Given the description of an element on the screen output the (x, y) to click on. 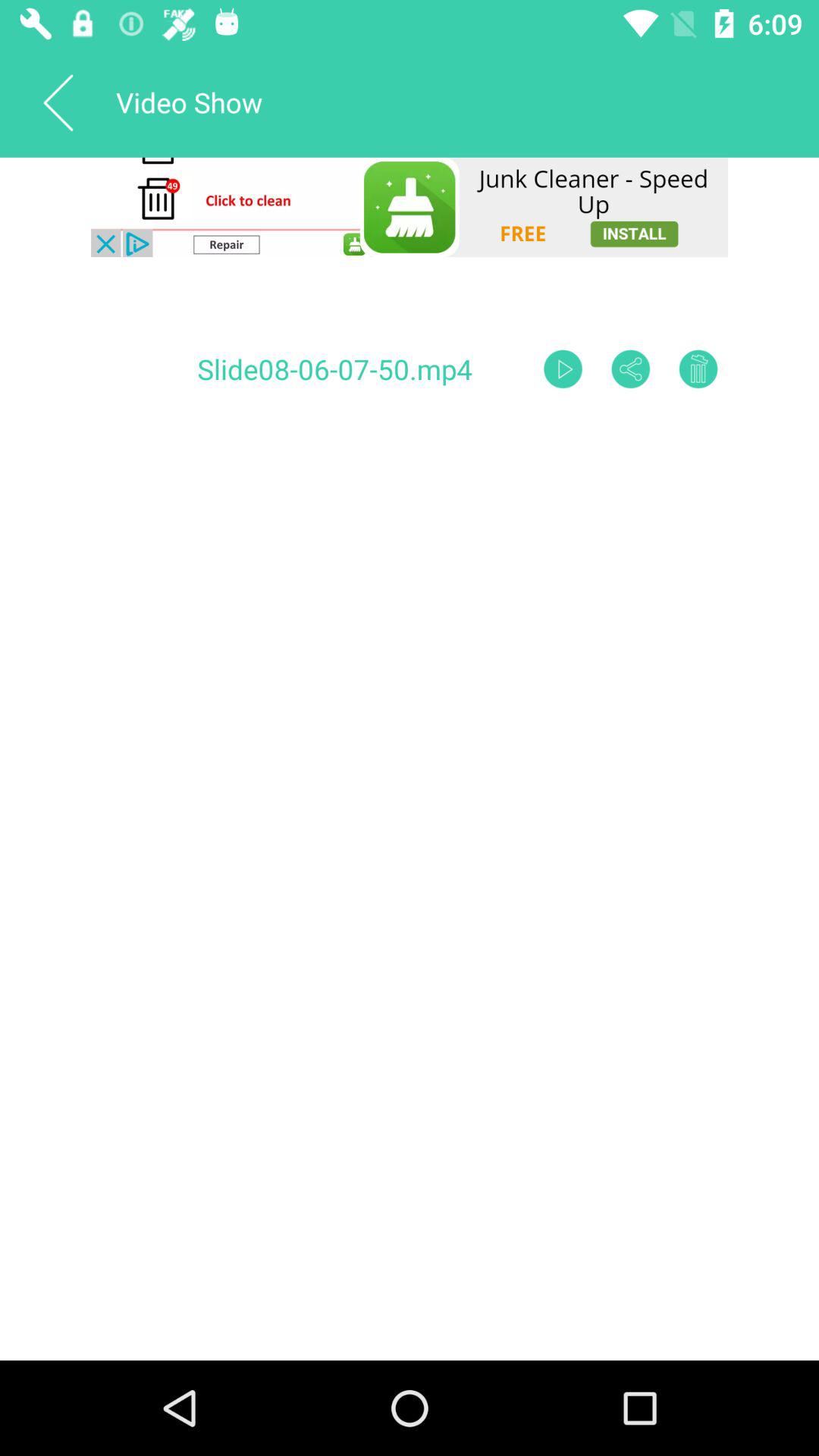
go to share option (630, 369)
